Given the description of an element on the screen output the (x, y) to click on. 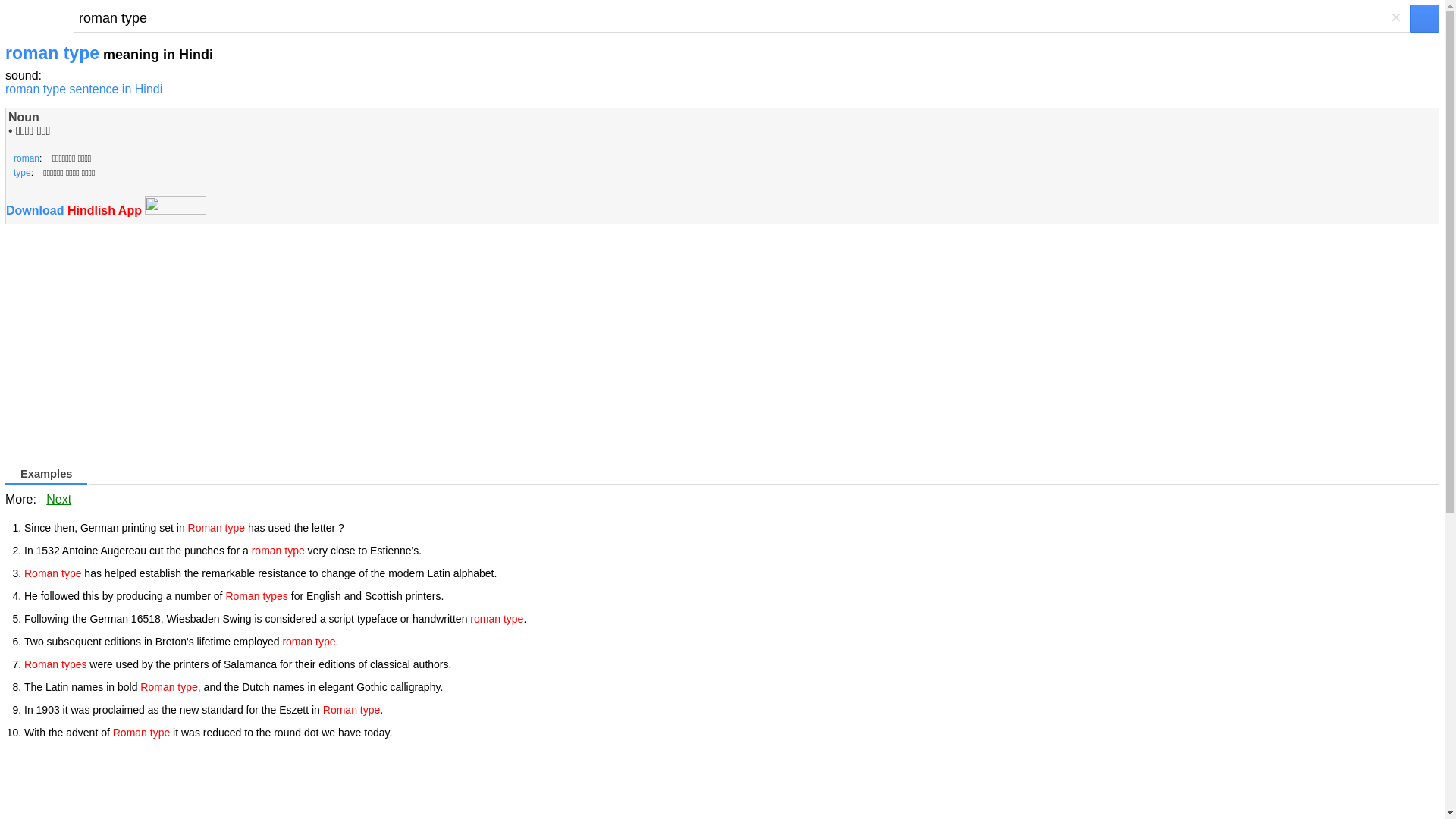
roman in Hindi (26, 158)
roman type (742, 17)
Examples (46, 474)
Search (742, 17)
Download Hindlish App (74, 210)
roman type sentence in Hindi (83, 88)
sound (22, 74)
roman (26, 158)
type (21, 172)
Next (58, 499)
